Given the description of an element on the screen output the (x, y) to click on. 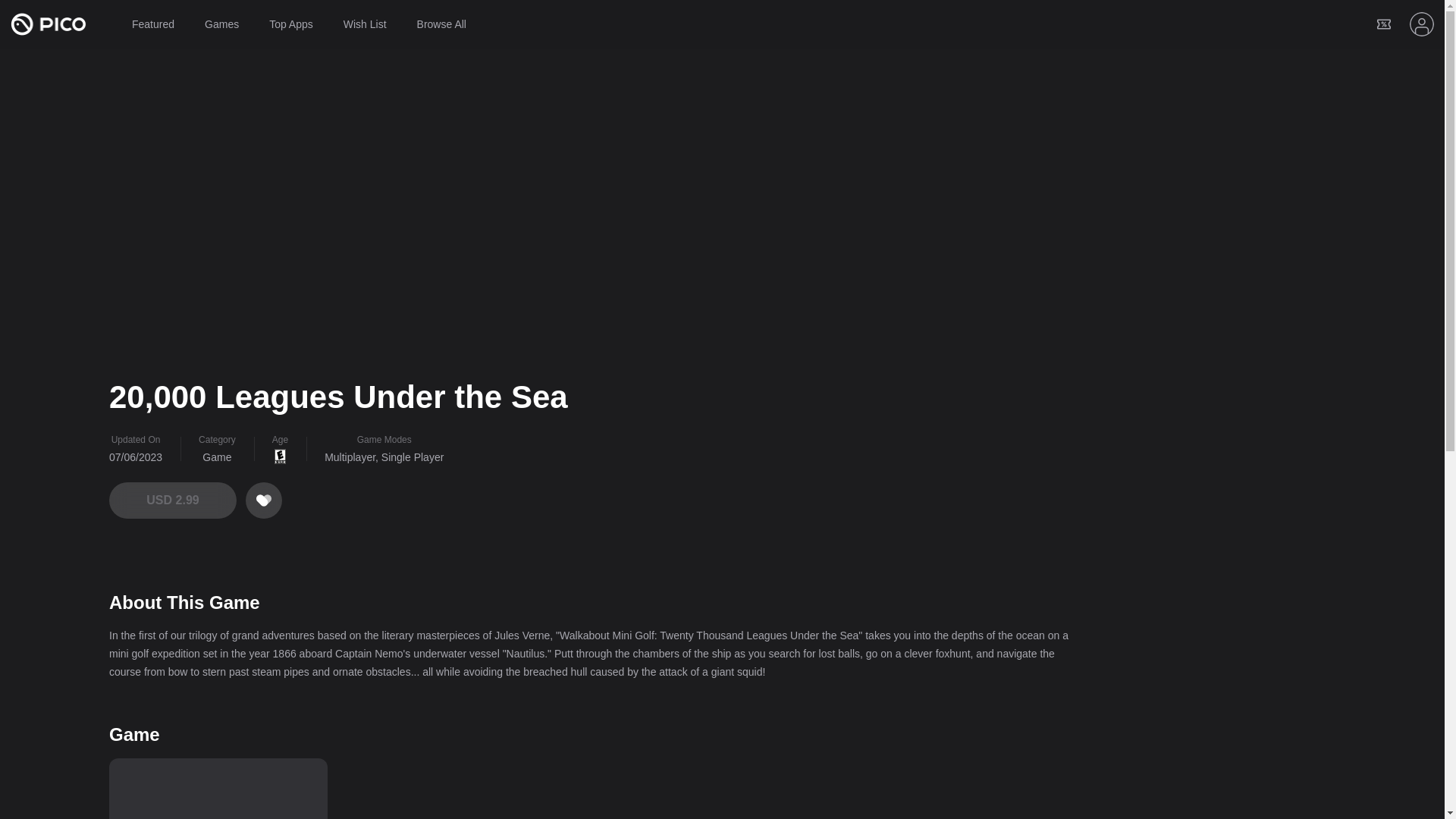
Games (221, 24)
Wish List (364, 24)
Browse All (441, 24)
Top Apps (290, 24)
Featured (152, 24)
